Given the description of an element on the screen output the (x, y) to click on. 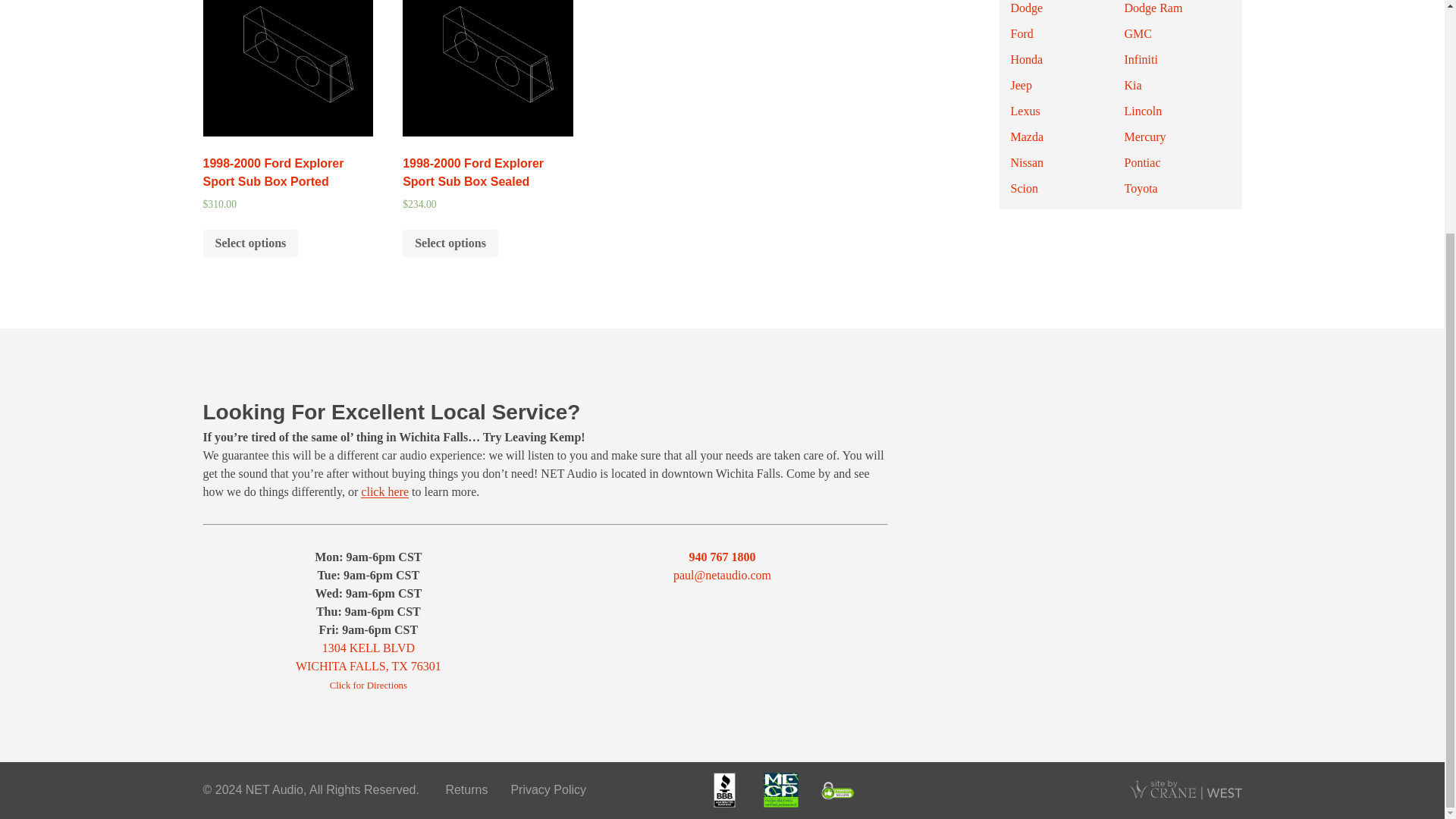
Get Directions (368, 666)
